Given the description of an element on the screen output the (x, y) to click on. 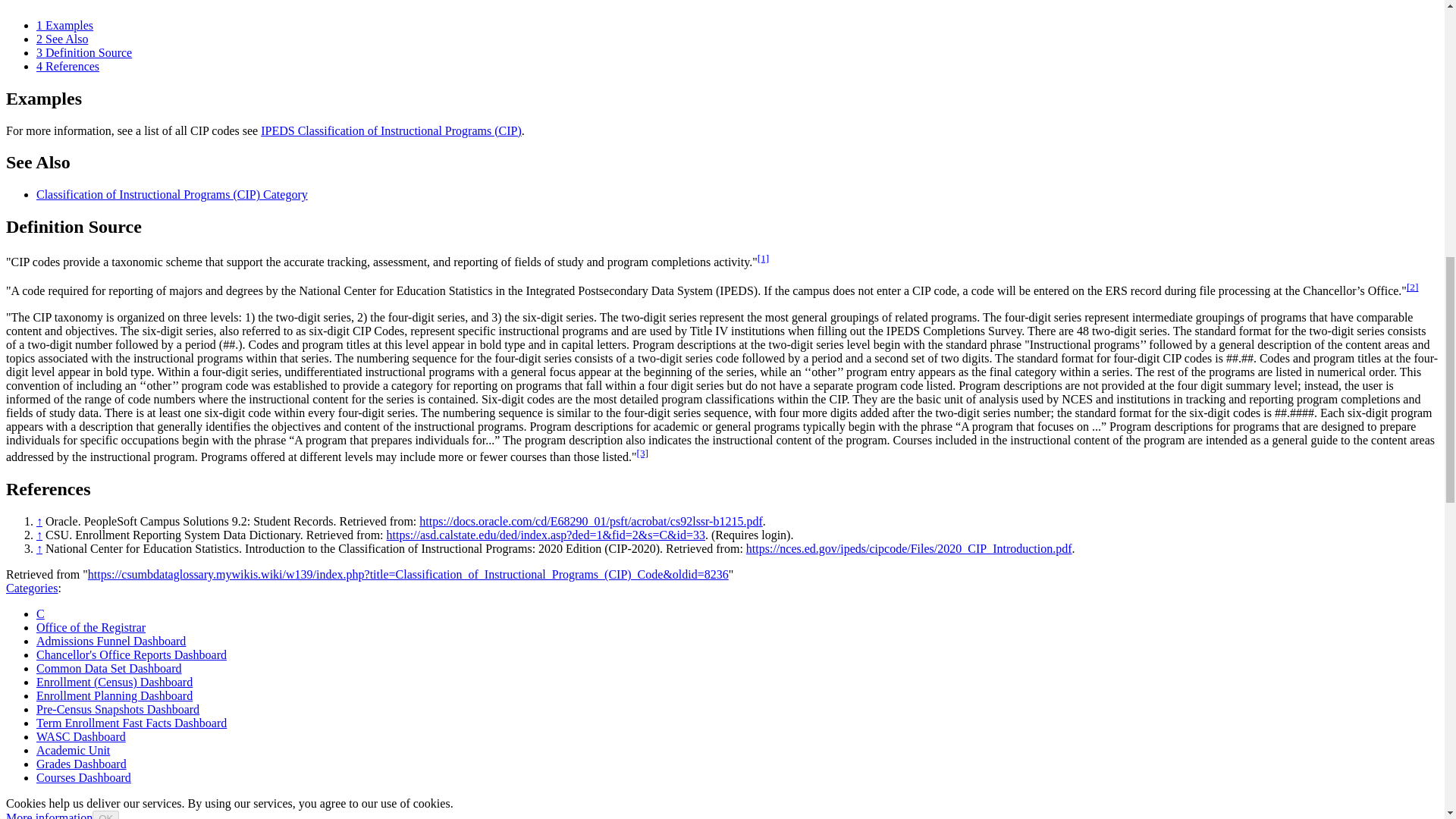
Common Data Set Dashboard (109, 667)
Office of the Registrar (90, 626)
2 See Also (61, 38)
1 Examples (64, 24)
Chancellor's Office Reports Dashboard (131, 654)
Admissions Funnel Dashboard (111, 640)
Categories (31, 587)
4 References (67, 65)
3 Definition Source (84, 51)
